Given the description of an element on the screen output the (x, y) to click on. 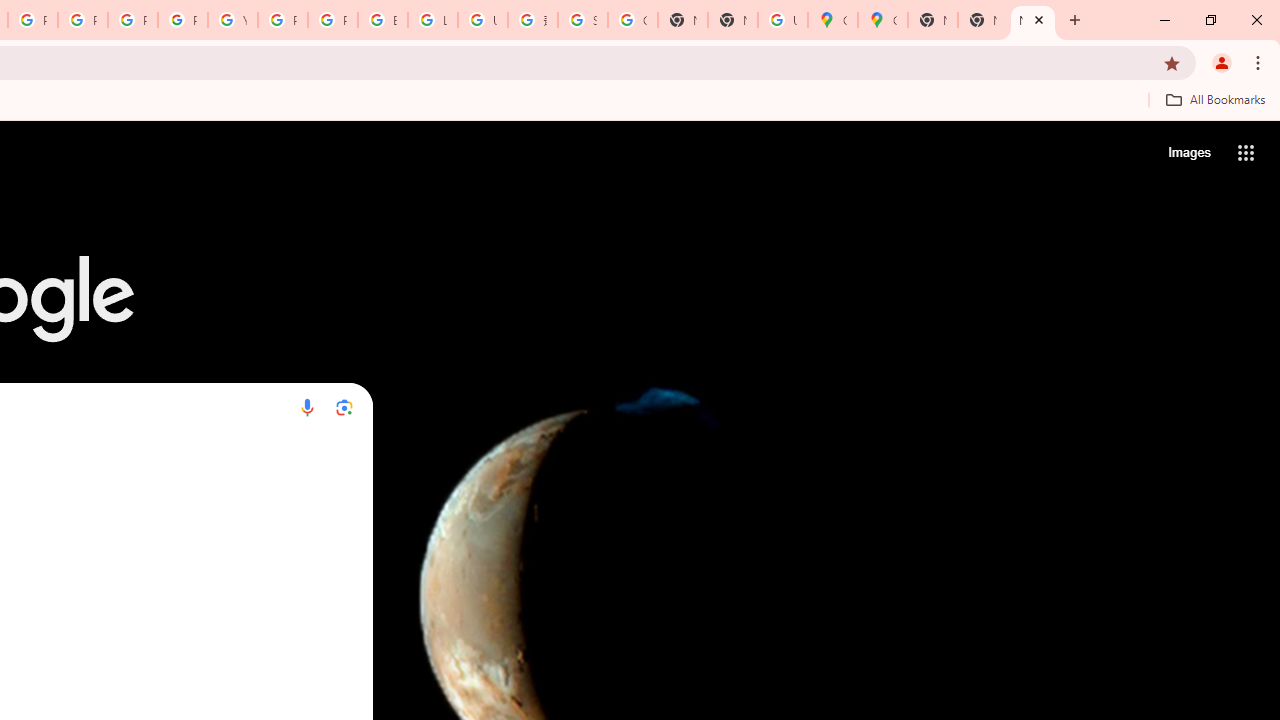
New Tab (932, 20)
Chrome Web Store (279, 504)
Google Maps (56, 504)
Google Maps (882, 20)
New Tab (732, 20)
Privacy Help Center - Policies Help (82, 20)
